Given the description of an element on the screen output the (x, y) to click on. 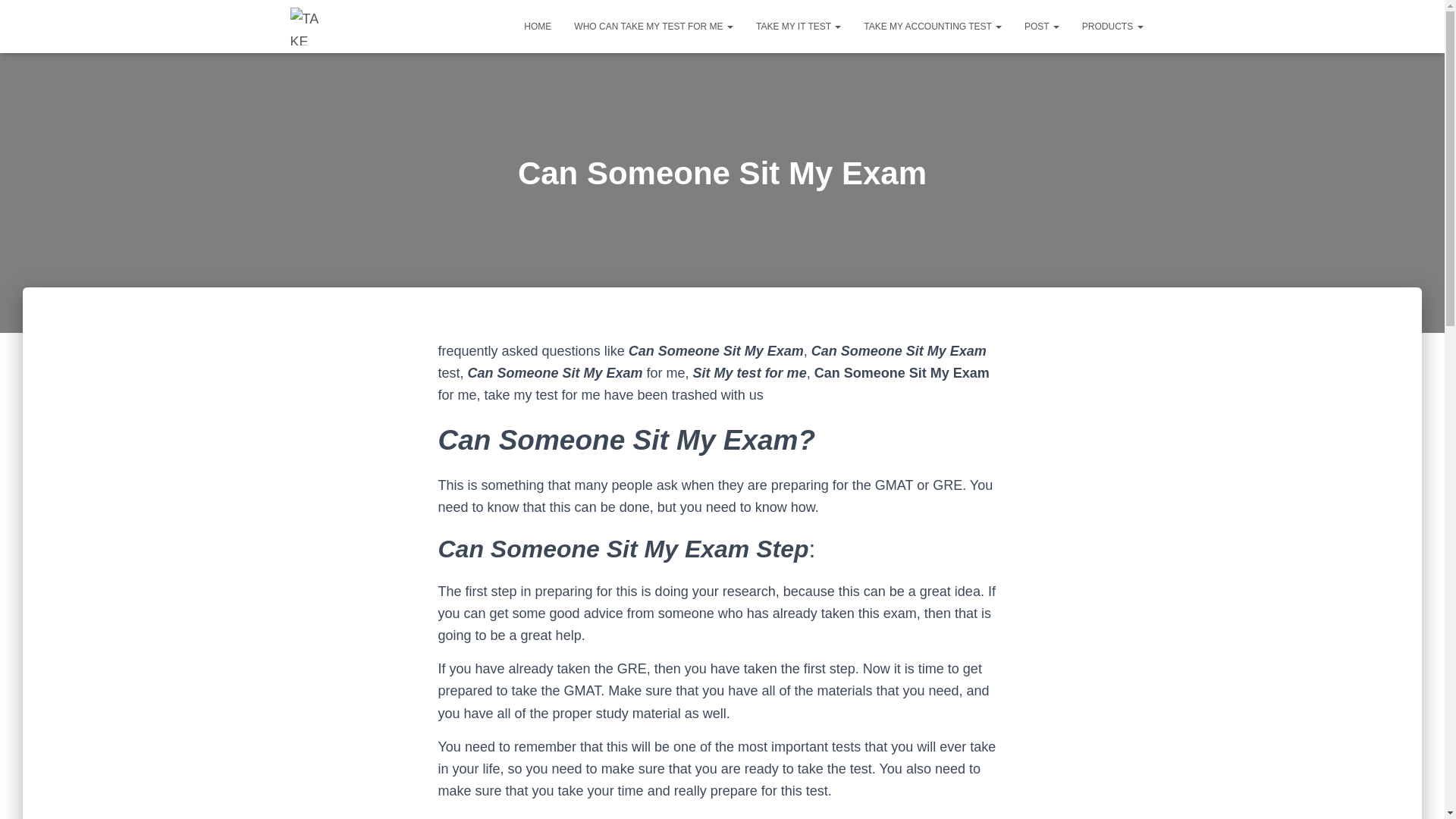
TAKE MY EXAM! WE SIT YOUR EXAMS AND YOU GET THE SCORE (308, 26)
Who can take my test for me (653, 26)
HOME (537, 26)
Home (537, 26)
TAKE MY IT TEST (797, 26)
WHO CAN TAKE MY TEST FOR ME (653, 26)
